Given the description of an element on the screen output the (x, y) to click on. 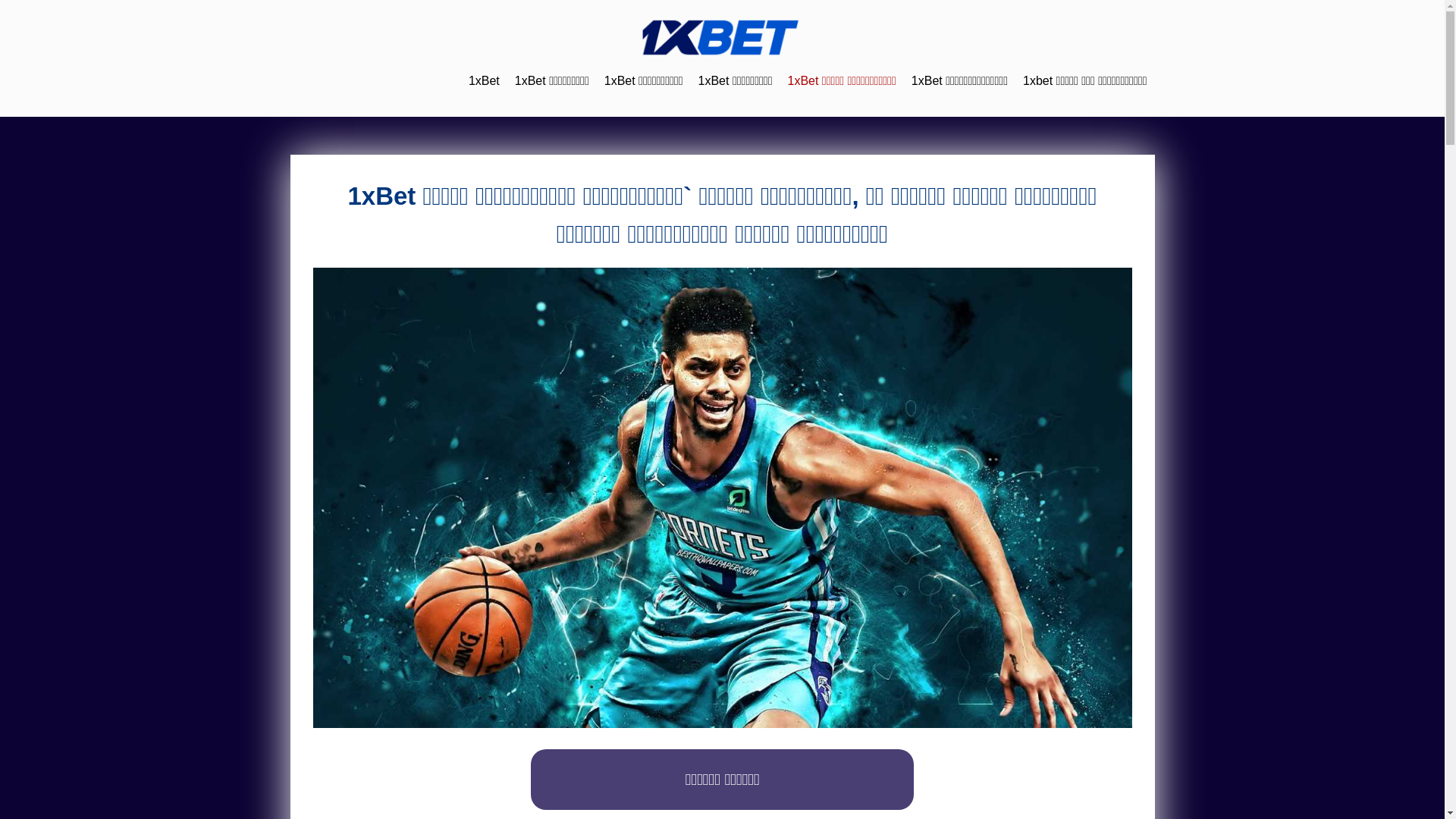
Skip to content Element type: text (0, 0)
1xBet Element type: text (484, 80)
